Given the description of an element on the screen output the (x, y) to click on. 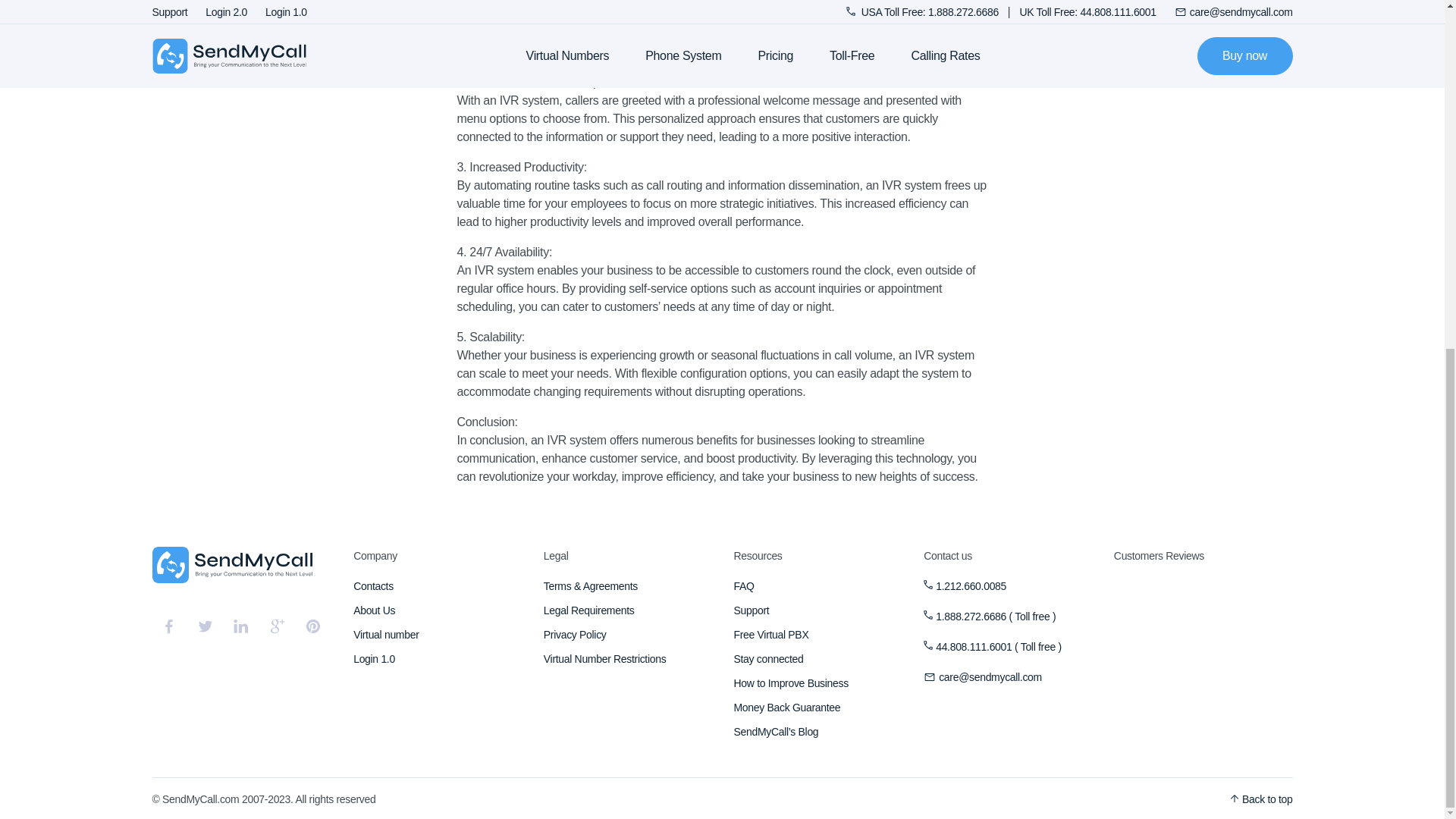
Legal (627, 556)
Legal Requirements (627, 610)
About Us (437, 610)
Company (437, 556)
Customer reviews powered by Trustpilot (1202, 634)
Login 1.0 (437, 659)
Privacy Policy (627, 634)
Contacts (437, 586)
Virtual number (437, 634)
